Given the description of an element on the screen output the (x, y) to click on. 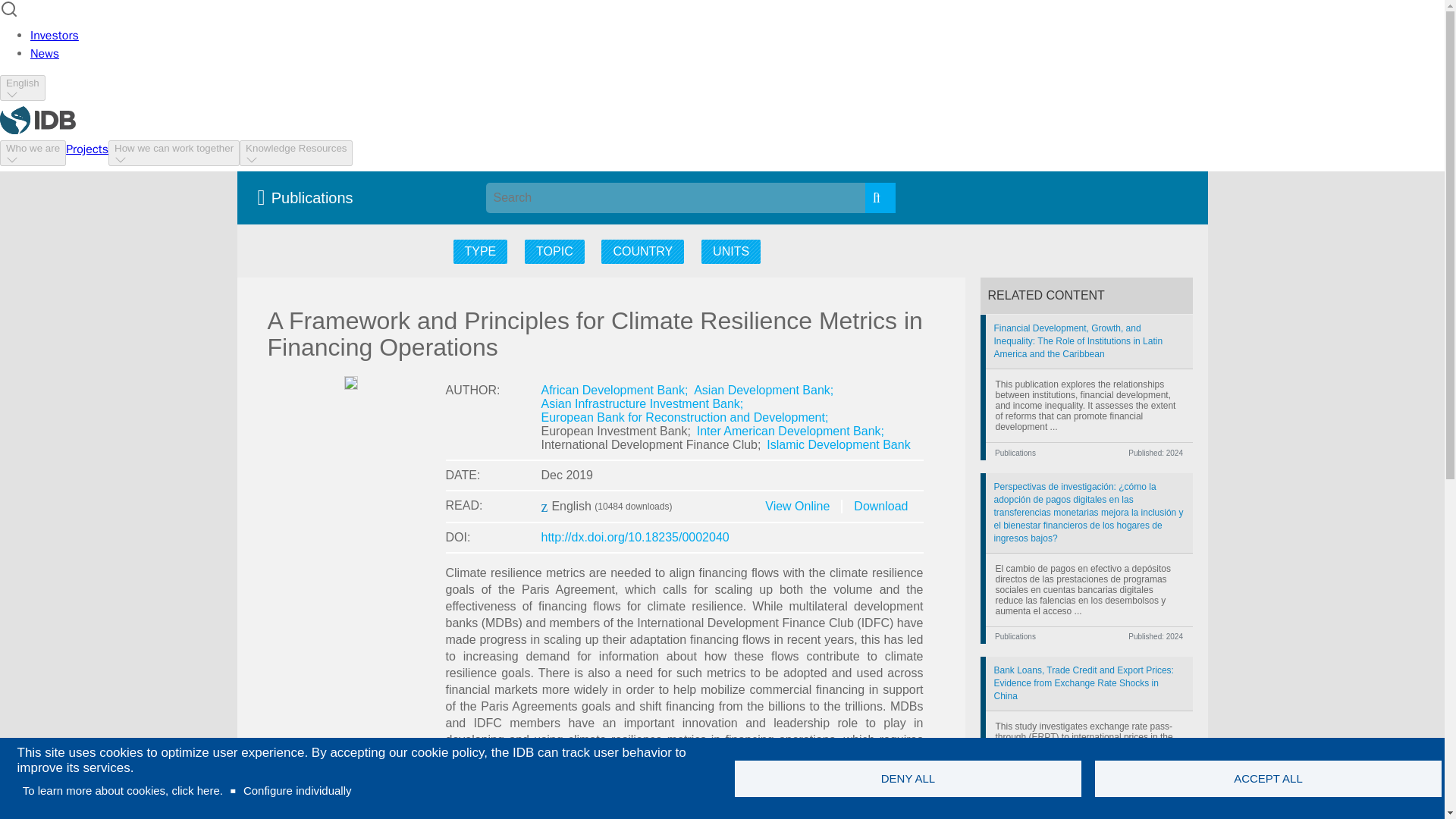
Publications (308, 197)
Apply (879, 197)
TOPIC (554, 251)
TYPE (480, 251)
Apply (879, 197)
